Given the description of an element on the screen output the (x, y) to click on. 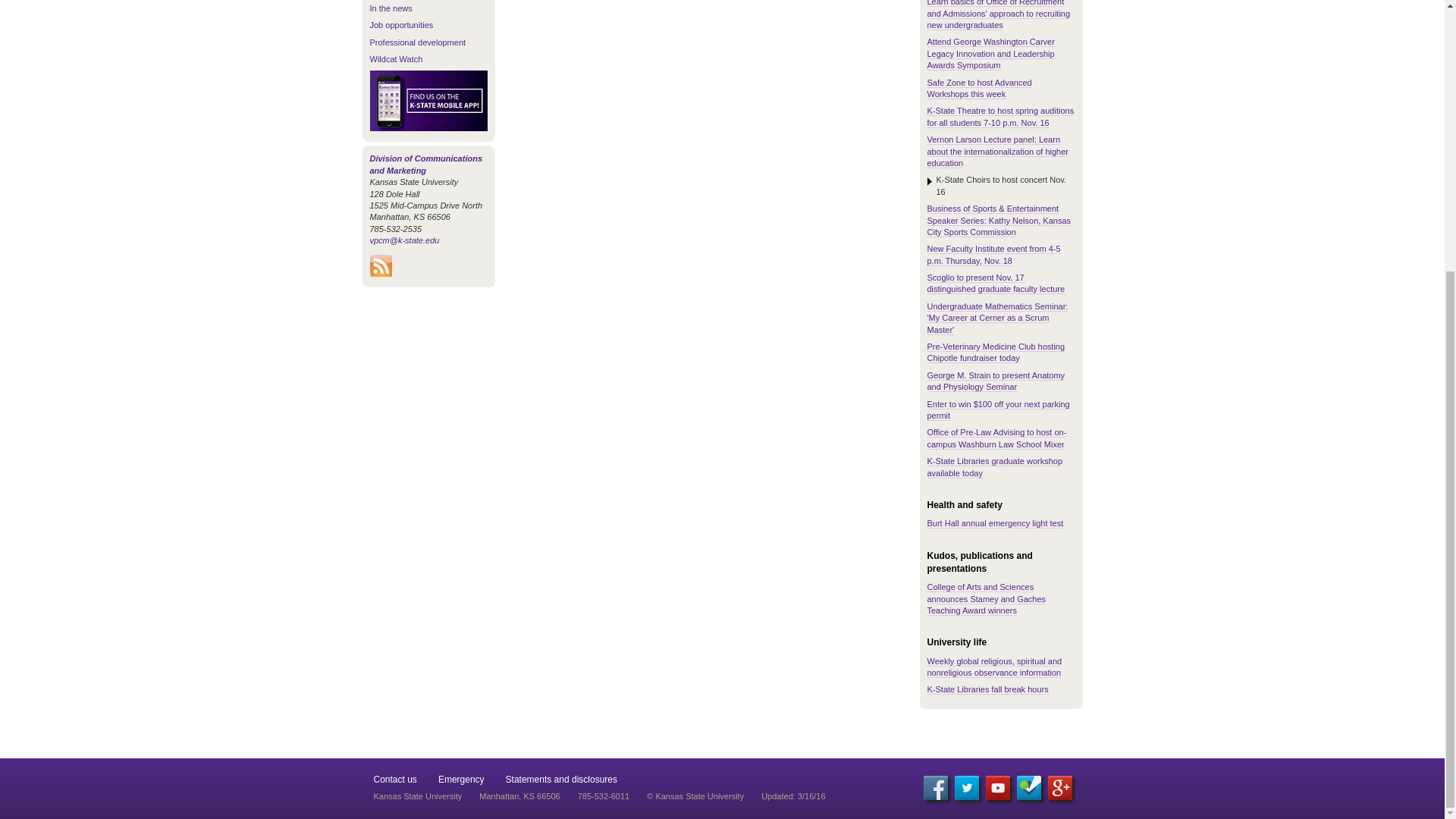
Division of Communications and Marketing (426, 163)
Professional development (417, 41)
Subscribe to K-State Today RSS feeds (380, 272)
Wildcat Watch (396, 58)
